Given the description of an element on the screen output the (x, y) to click on. 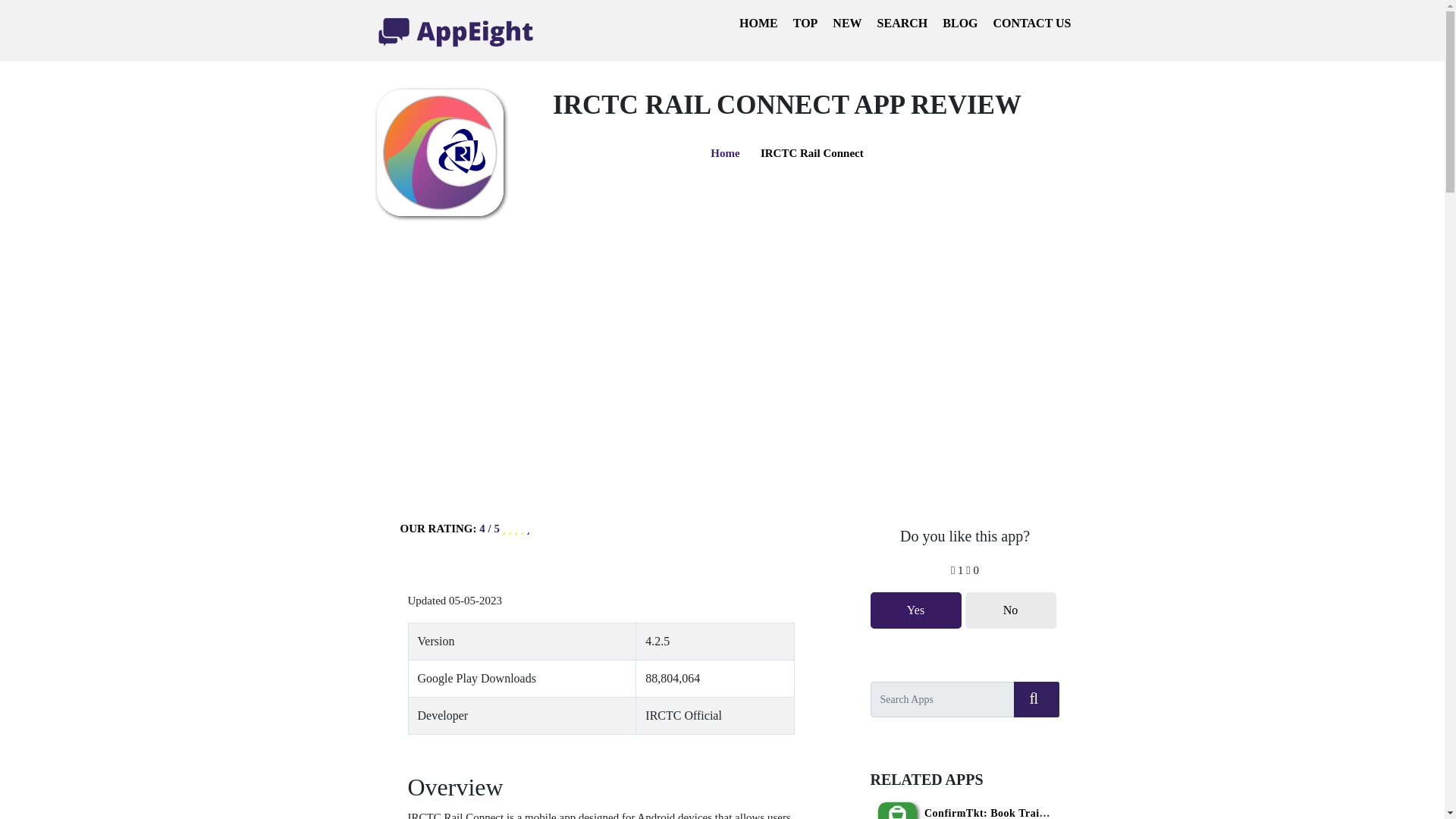
TOP (805, 23)
Home (724, 152)
NEW (846, 23)
Yes (915, 610)
SEARCH (902, 23)
CONTACT US (1031, 23)
No (1009, 610)
ConfirmTkt: Book Train Tickets... (1008, 813)
BLOG (959, 23)
Submit (1036, 697)
HOME (758, 23)
